Given the description of an element on the screen output the (x, y) to click on. 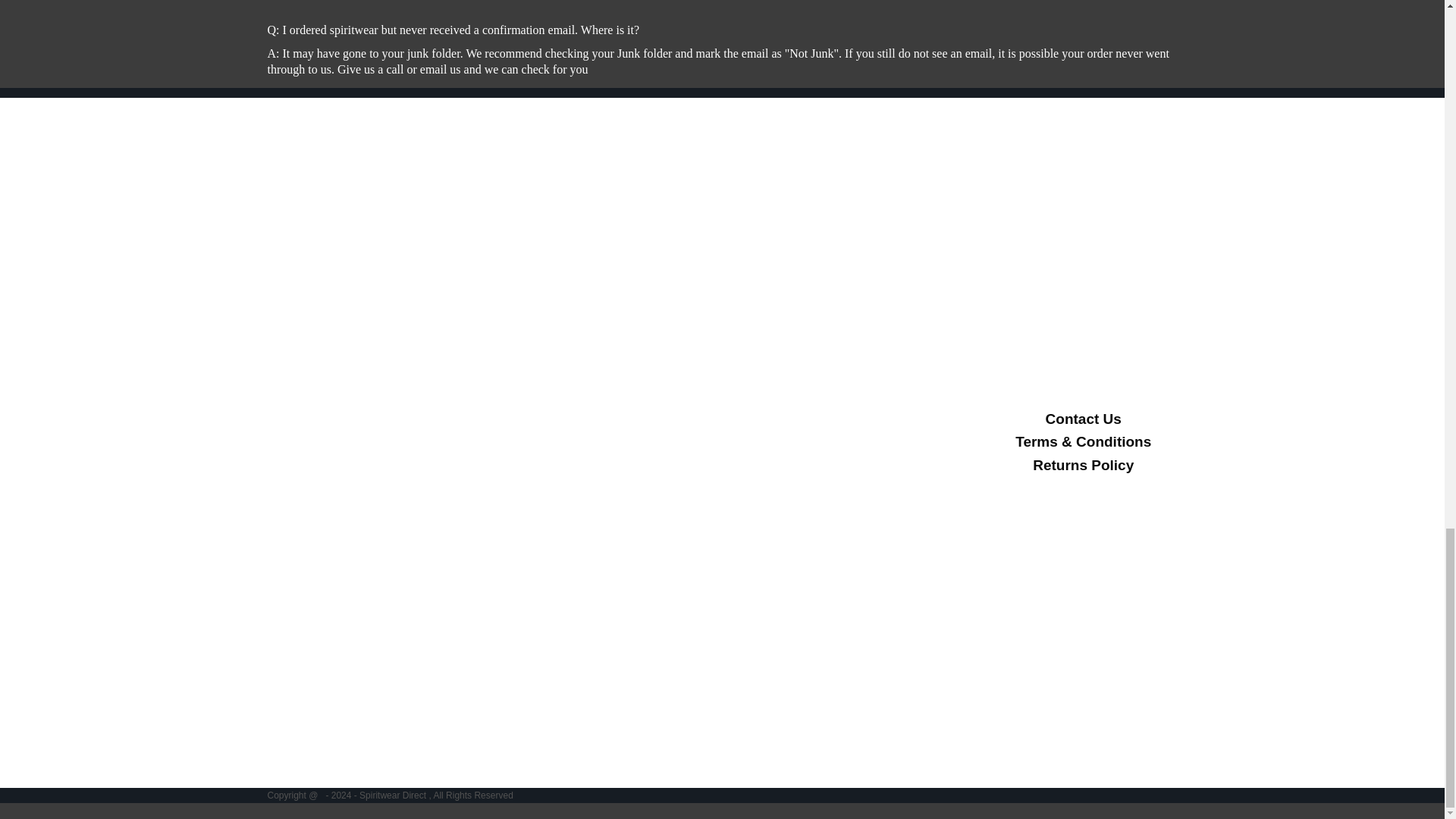
Returns Policy (1083, 465)
Contact Us (1083, 418)
